Given the description of an element on the screen output the (x, y) to click on. 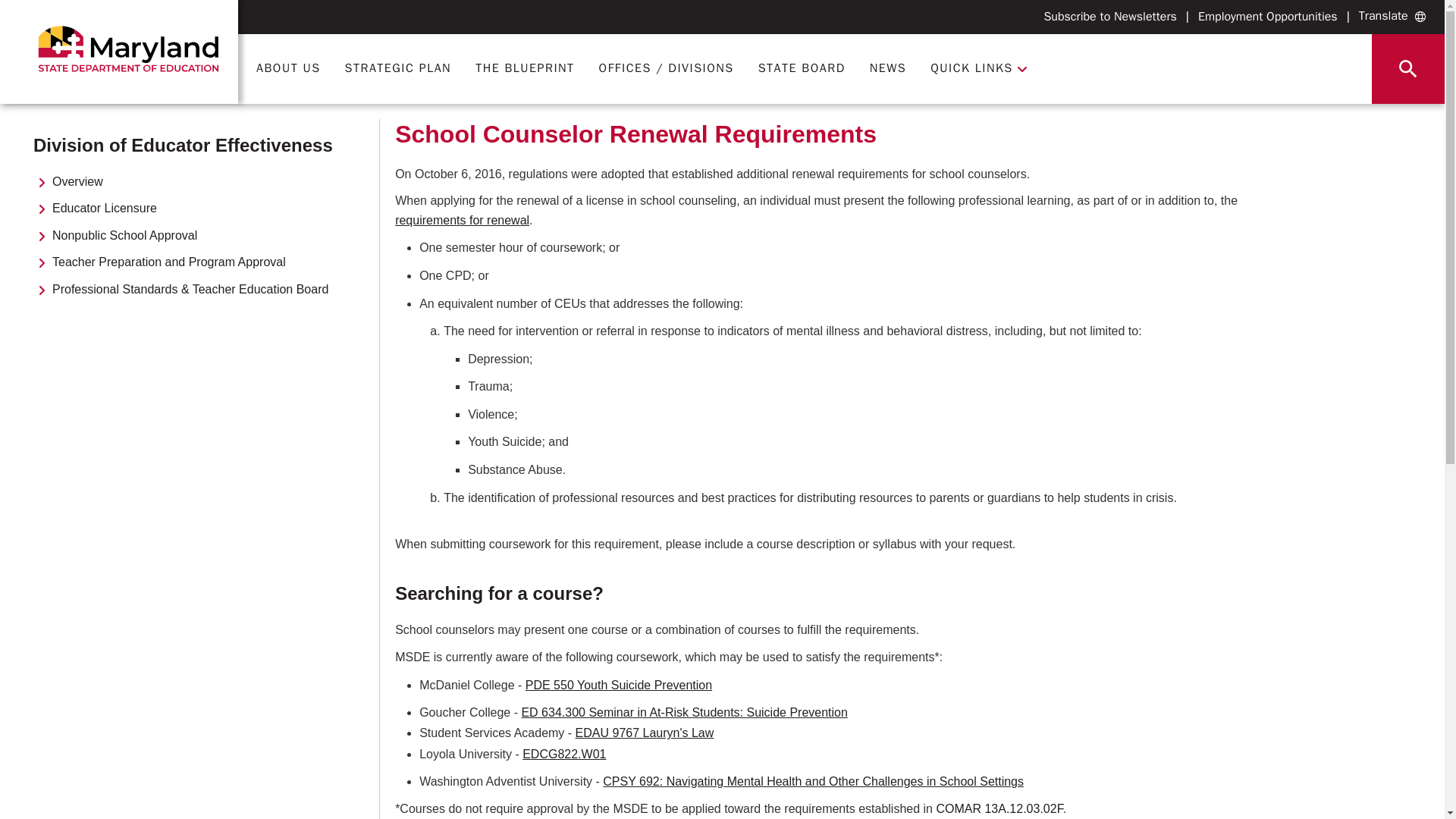
MSDE Primary Logo (127, 48)
Subscribe to Newsletters (1109, 16)
Employment Opportunities (1268, 16)
